Given the description of an element on the screen output the (x, y) to click on. 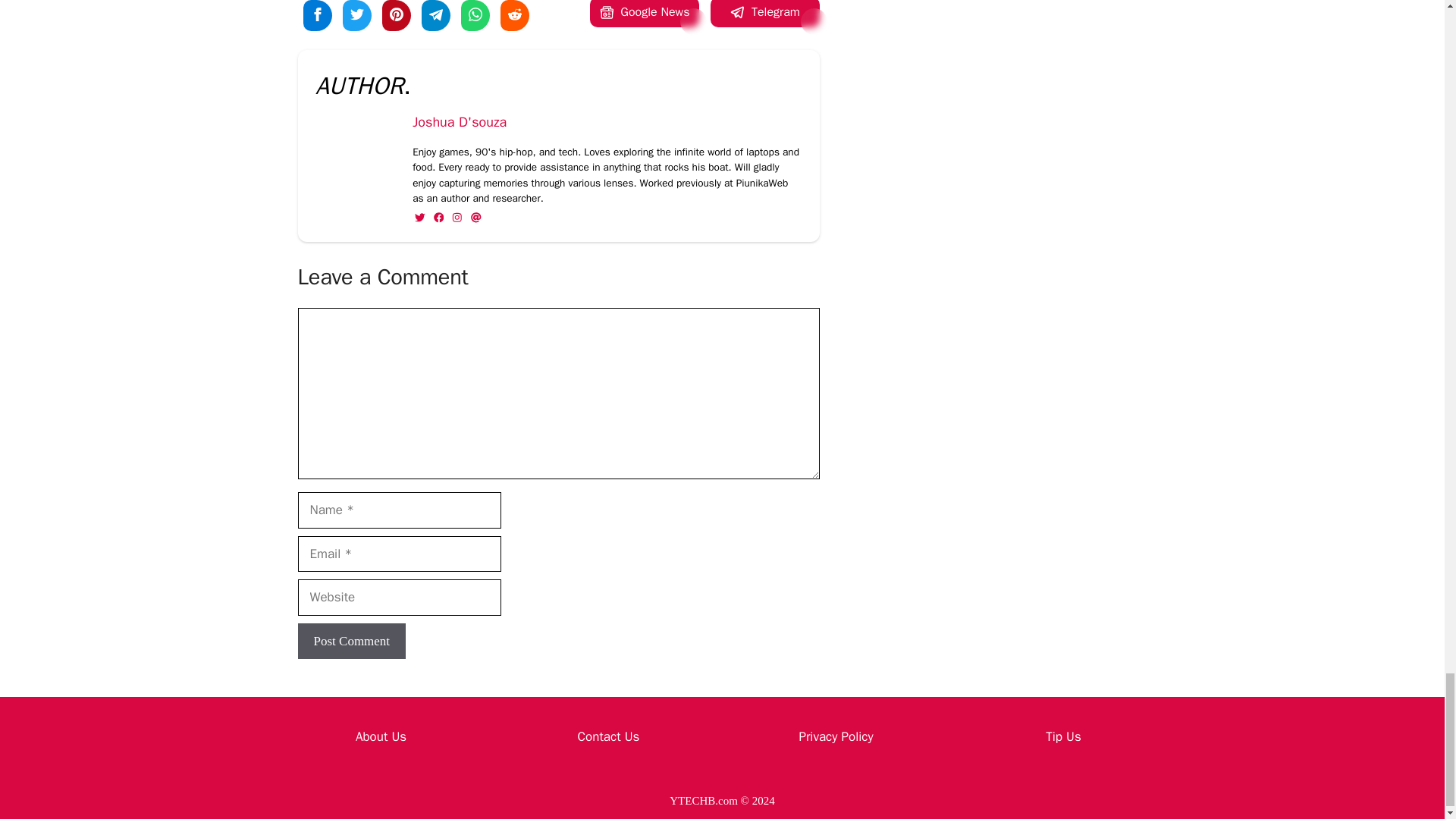
Post Comment (351, 641)
